Given the description of an element on the screen output the (x, y) to click on. 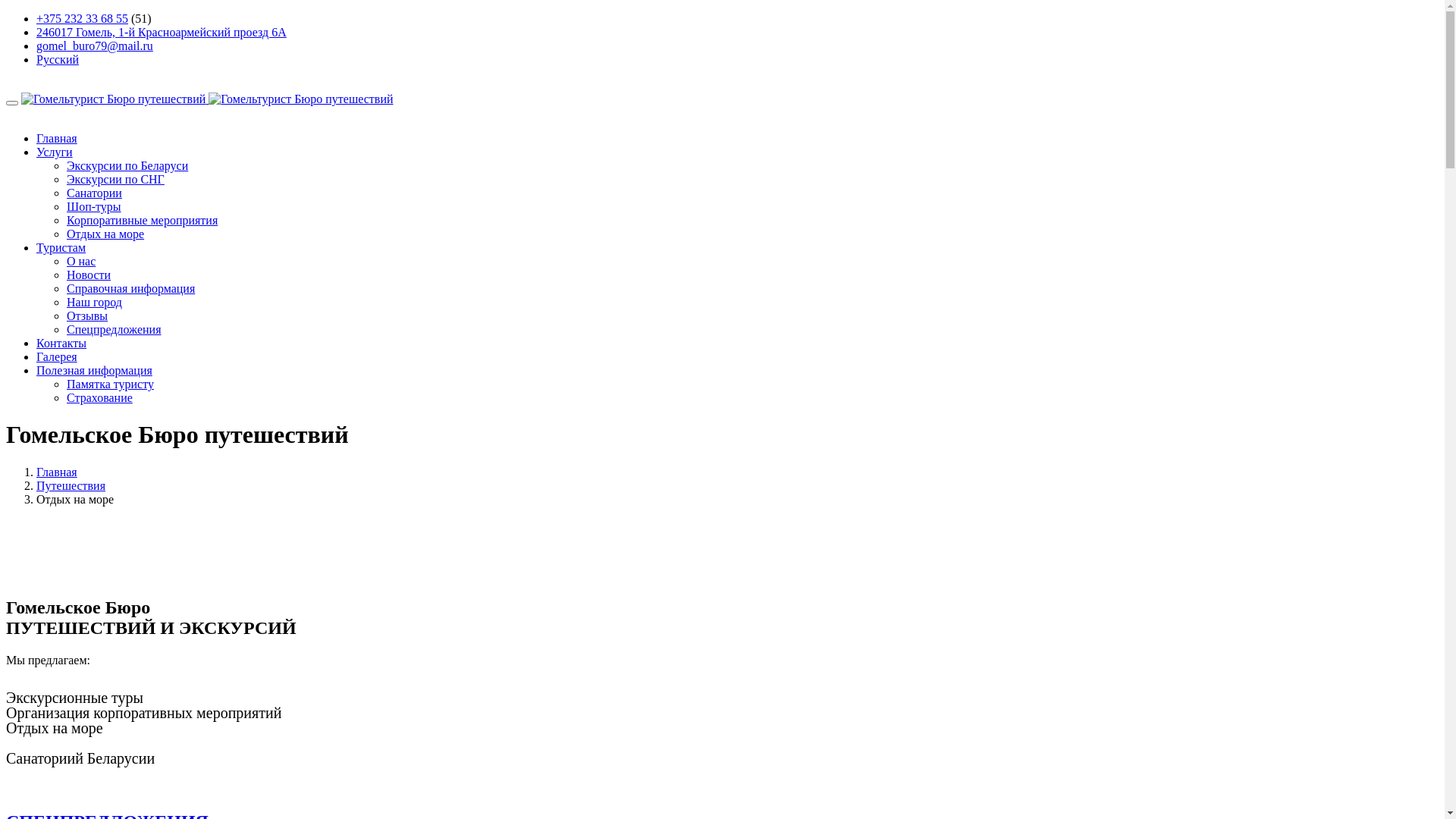
gomel_buro79@mail.ru Element type: text (94, 45)
+375 232 33 68 55 Element type: text (82, 18)
